Given the description of an element on the screen output the (x, y) to click on. 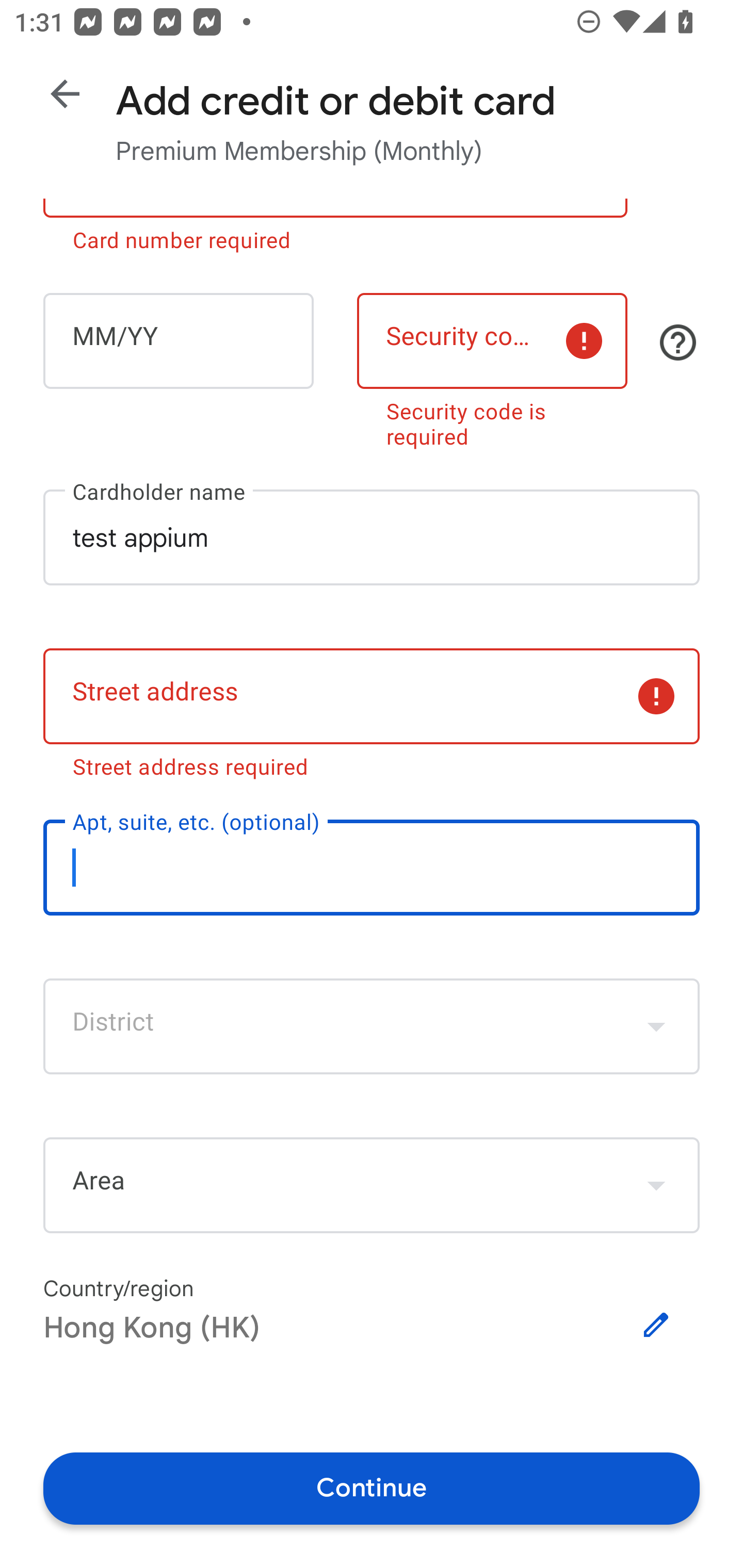
Back (64, 93)
Security code Error Security code is required (492, 367)
Expiration date, 2 digit month, 2 digit year (178, 340)
Security code (492, 340)
Security code help (677, 342)
test appium (371, 536)
Street address (371, 695)
Apt, suite, etc. (optional) (371, 867)
District (371, 1026)
Show dropdown menu (655, 1026)
Area (371, 1185)
Show dropdown menu (655, 1185)
country edit button (655, 1324)
Continue (371, 1487)
